Given the description of an element on the screen output the (x, y) to click on. 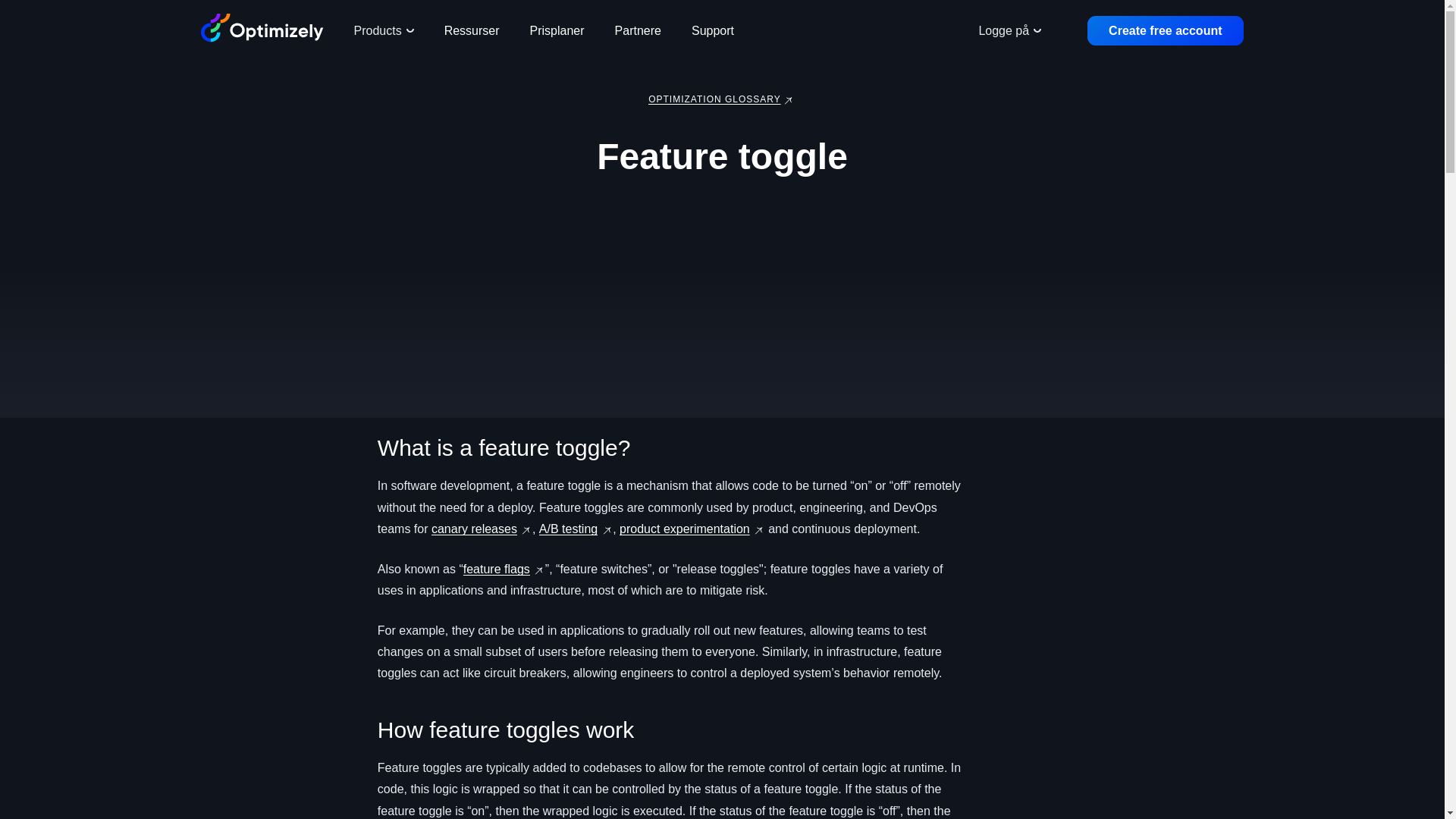
Optimizely Logo (261, 30)
OPTIMIZATION GLOSSARY (713, 99)
Prisplaner (557, 30)
feature flags (496, 568)
Optimizely Logo (261, 27)
product experimentation (684, 528)
Partnere (638, 30)
Ressurser (472, 30)
Create free account (1164, 30)
canary releases (473, 528)
Products (382, 30)
Support (713, 30)
